Given the description of an element on the screen output the (x, y) to click on. 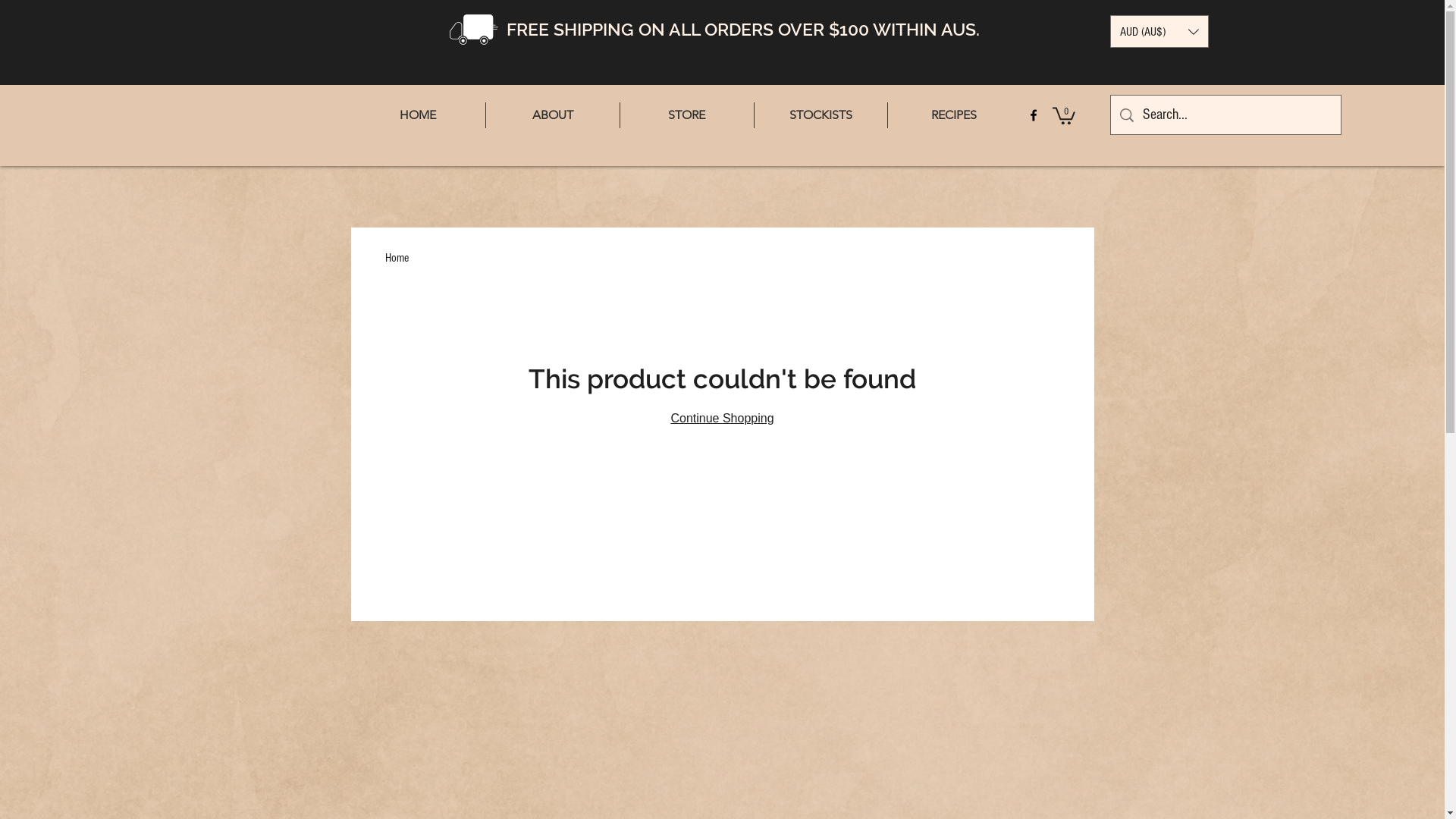
HOME Element type: text (417, 115)
0 Element type: text (1063, 114)
Home Element type: text (396, 257)
ABOUT Element type: text (551, 115)
STOCKISTS Element type: text (819, 115)
RECIPES Element type: text (953, 115)
Continue Shopping Element type: text (721, 417)
AUD (AU$) Element type: text (1159, 31)
STORE Element type: text (686, 115)
